Given the description of an element on the screen output the (x, y) to click on. 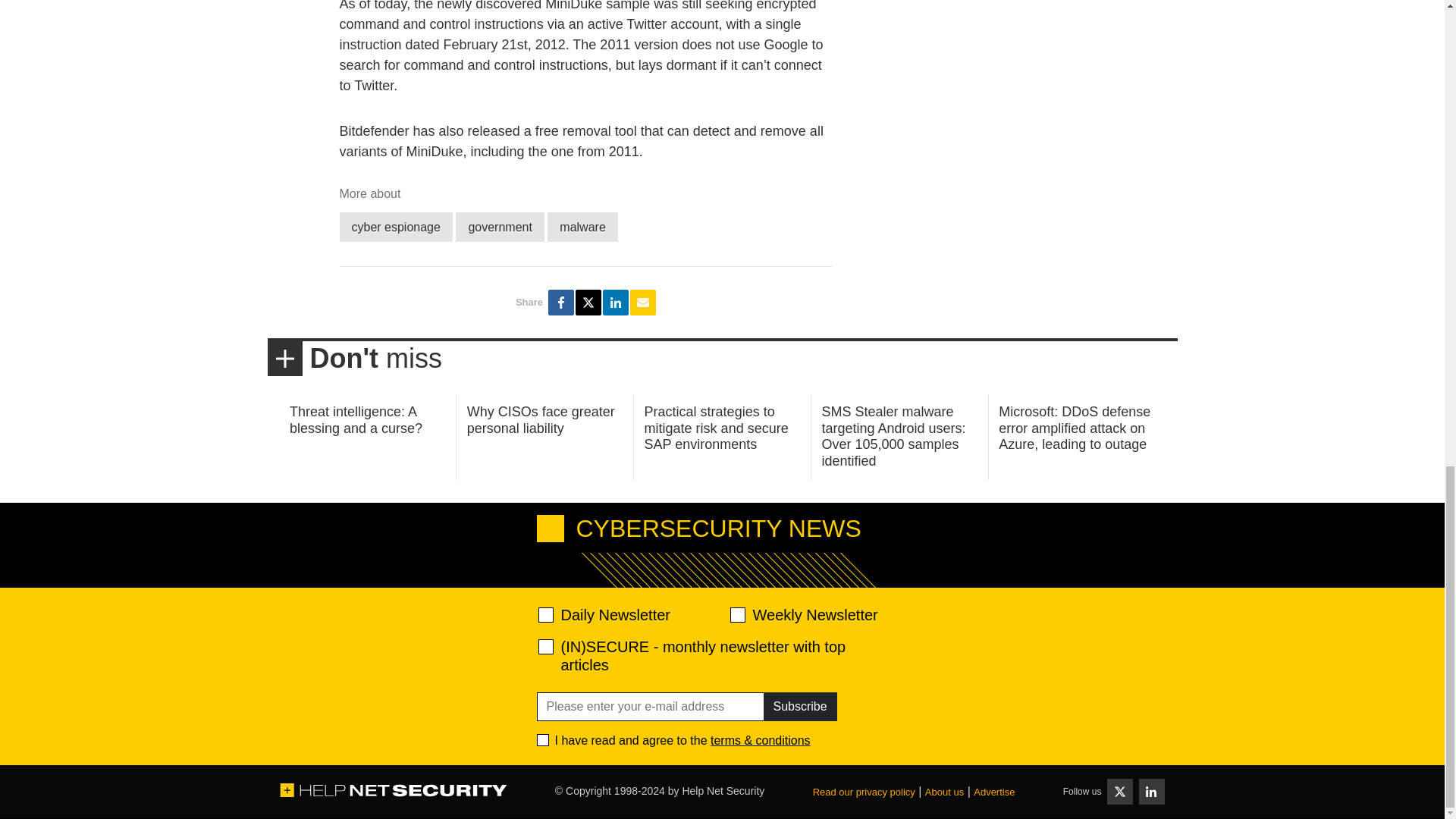
Why CISOs face greater personal liability (540, 419)
520ac2f639 (545, 614)
malware (582, 226)
cyber espionage (395, 226)
malware (582, 226)
cyber espionage (395, 226)
1 (542, 739)
Threat intelligence: A blessing and a curse? (355, 419)
28abe5d9ef (545, 646)
d2d471aafa (736, 614)
government (499, 226)
